Given the description of an element on the screen output the (x, y) to click on. 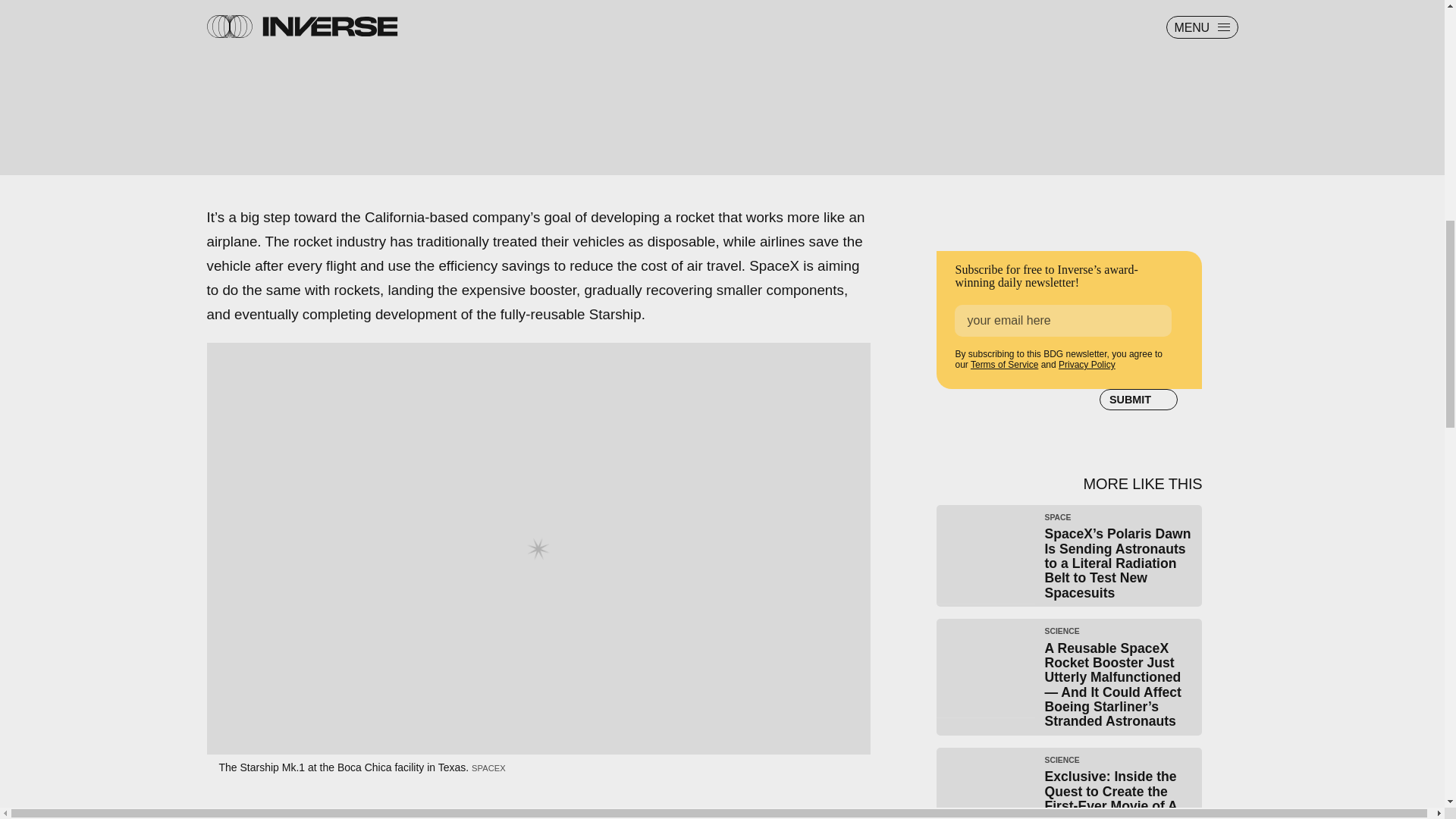
Privacy Policy (1086, 364)
SUBMIT (1138, 399)
Terms of Service (1004, 364)
